Given the description of an element on the screen output the (x, y) to click on. 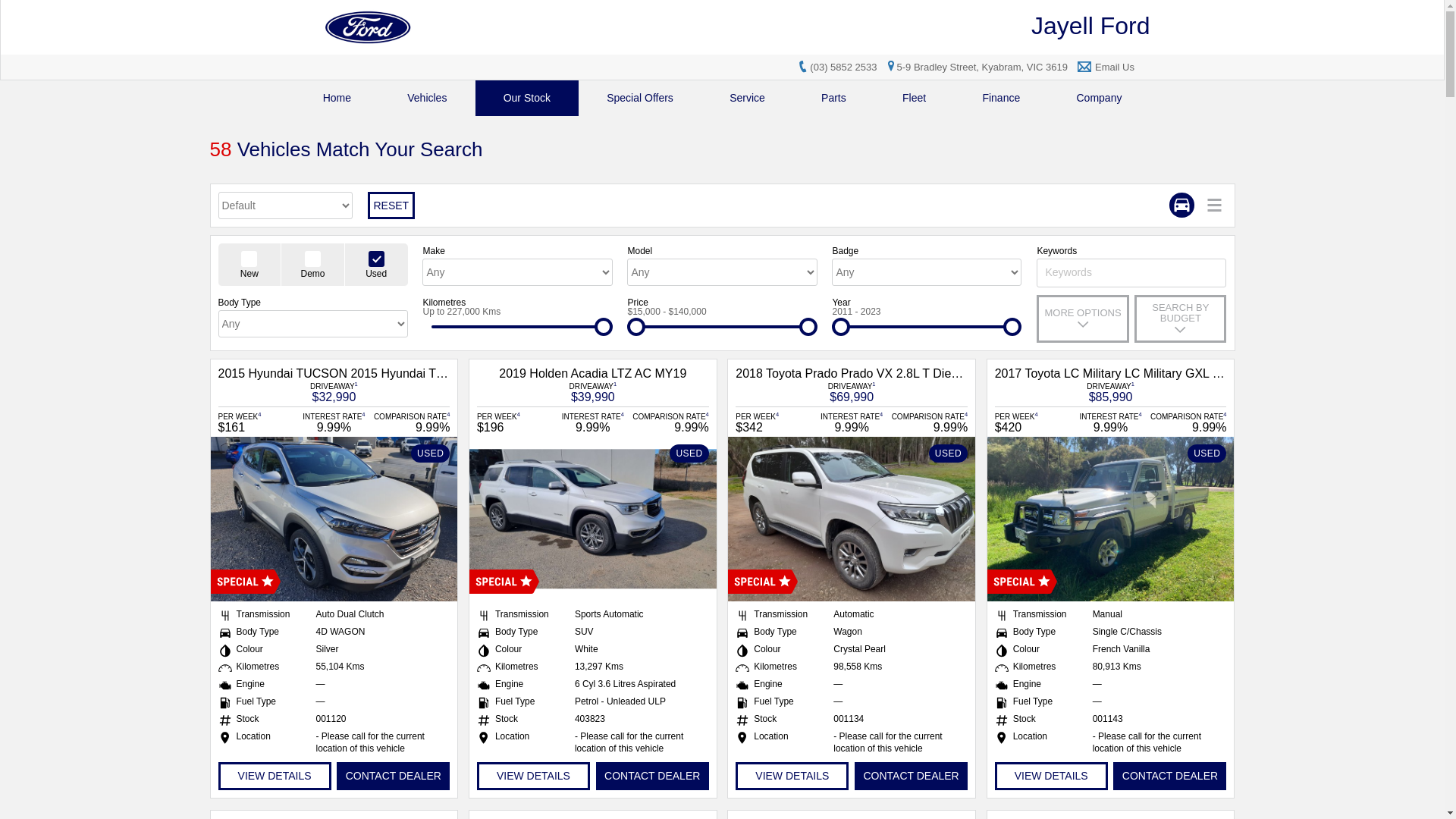
COMPARISON RATE4
9.99% Element type: text (928, 422)
DRIVEAWAY1
$32,990 Element type: text (334, 391)
Finance Element type: text (1000, 98)
CONTACT DEALER Element type: text (652, 776)
DRIVEAWAY1
$69,990 Element type: text (851, 391)
PER WEEK4
$161 Element type: text (256, 422)
INTEREST RATE4
9.99% Element type: text (592, 422)
CONTACT DEALER Element type: text (910, 776)
Vehicles Element type: text (426, 98)
MORE OPTIONS Element type: text (1082, 318)
(03) 5852 2533 Element type: text (842, 66)
VIEW DETAILS Element type: text (274, 776)
SEARCH BY BUDGET Element type: text (1180, 318)
USED Element type: text (1110, 518)
VIEW DETAILS Element type: text (791, 776)
Our Stock Element type: text (527, 98)
Home Element type: text (336, 98)
PER WEEK4
$342 Element type: text (773, 422)
INTEREST RATE4
9.99% Element type: text (851, 422)
VIEW DETAILS Element type: text (1050, 776)
COMPARISON RATE4
9.99% Element type: text (670, 422)
Special Offers Element type: text (639, 98)
COMPARISON RATE4
9.99% Element type: text (1187, 422)
COMPARISON RATE4
9.99% Element type: text (410, 422)
Email Us Element type: text (1114, 66)
USED Element type: text (334, 518)
USED Element type: text (851, 518)
INTEREST RATE4
9.99% Element type: text (1110, 422)
Service Element type: text (747, 98)
RESET Element type: text (390, 205)
Parts Element type: text (833, 98)
USED Element type: text (592, 518)
Company Element type: text (1098, 98)
5-9 Bradley Street, Kyabram, VIC 3619 Element type: text (975, 66)
CONTACT DEALER Element type: text (1169, 776)
INTEREST RATE4
9.99% Element type: text (333, 422)
Fleet Element type: text (913, 98)
DRIVEAWAY1
$39,990 Element type: text (592, 391)
PER WEEK4
$420 Element type: text (1033, 422)
CONTACT DEALER Element type: text (392, 776)
PER WEEK4
$196 Element type: text (515, 422)
VIEW DETAILS Element type: text (532, 776)
DRIVEAWAY1
$85,990 Element type: text (1110, 391)
